Given the description of an element on the screen output the (x, y) to click on. 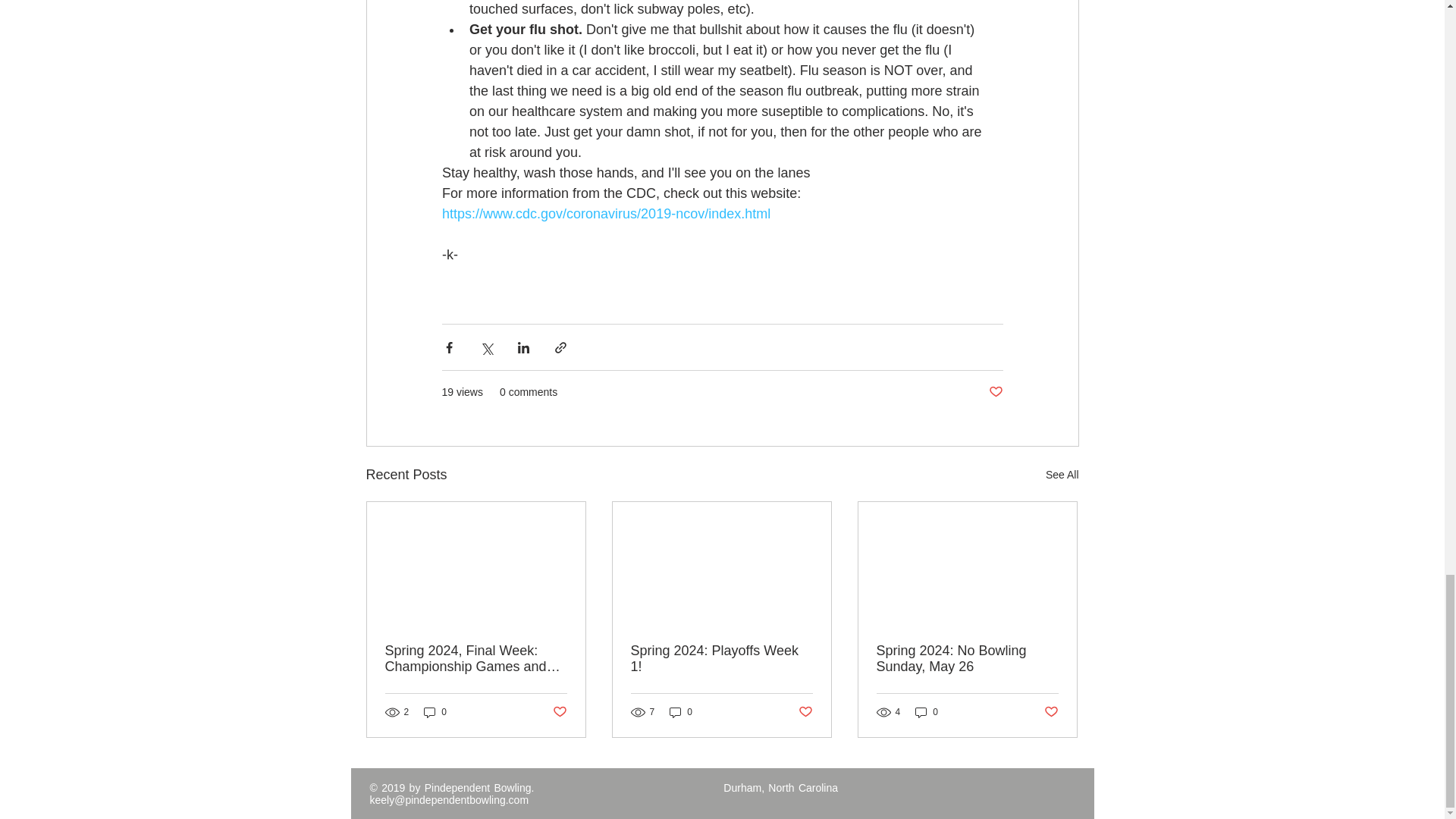
Post not marked as liked (558, 711)
Post not marked as liked (995, 392)
See All (1061, 475)
Spring 2024: Playoffs Week 1! (721, 658)
0 (435, 712)
Spring 2024, Final Week: Championship Games and Pizza! (476, 658)
0 (926, 712)
Post not marked as liked (1050, 711)
Spring 2024: No Bowling Sunday, May 26 (967, 658)
Post not marked as liked (804, 711)
0 (681, 712)
